Given the description of an element on the screen output the (x, y) to click on. 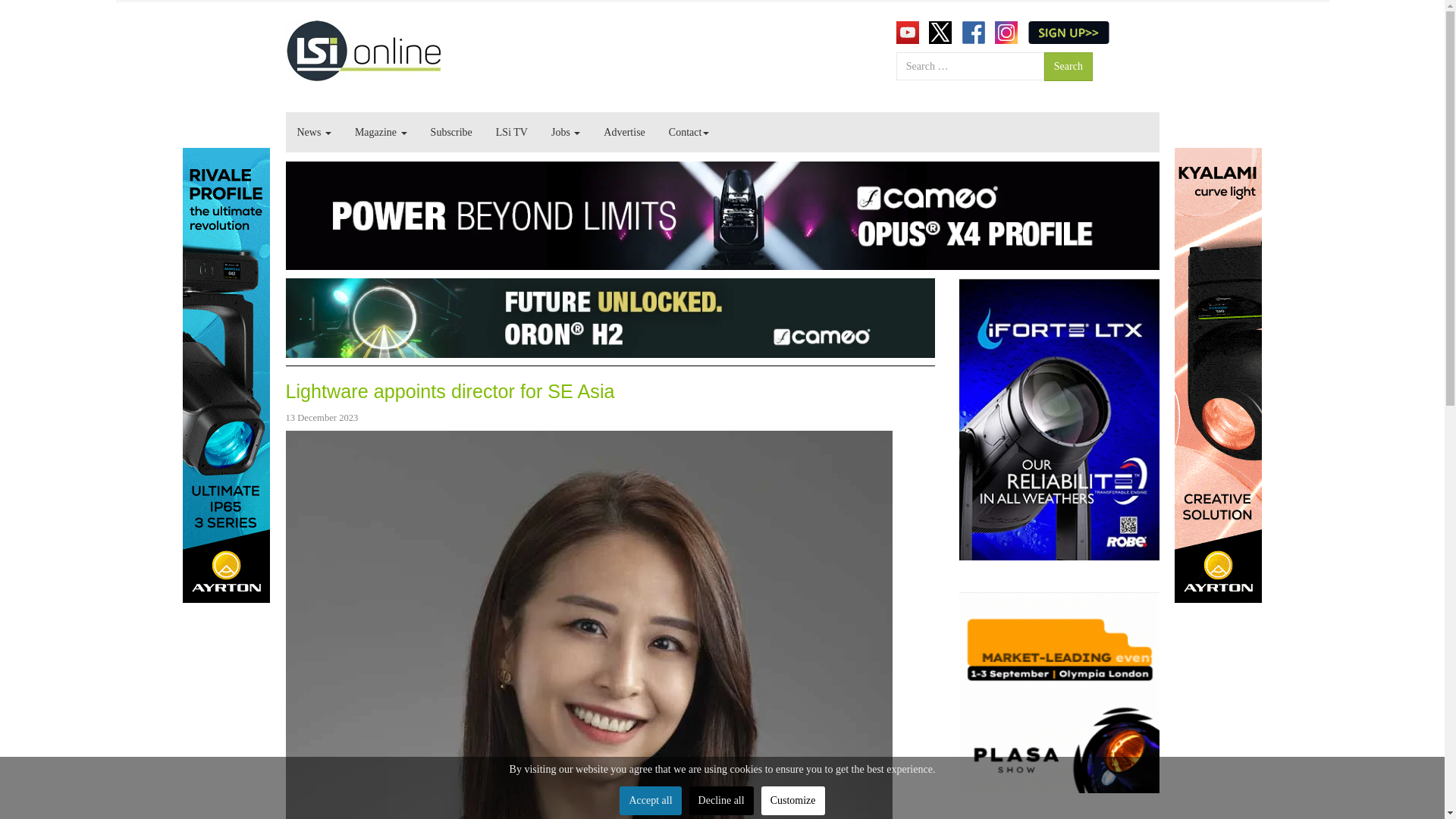
Published:  (321, 417)
Lightware appoints director for SE Asia (449, 391)
News (313, 132)
Ayrton - Skyscraper RIGHT - July24 (1216, 374)
Ayrton - Skyscraper LEFT - July24 (225, 374)
PLASA London - MPU - July 2024 (1058, 692)
LSi Online (363, 50)
Search (1068, 66)
Robe - Large MPU (1058, 419)
